Given the description of an element on the screen output the (x, y) to click on. 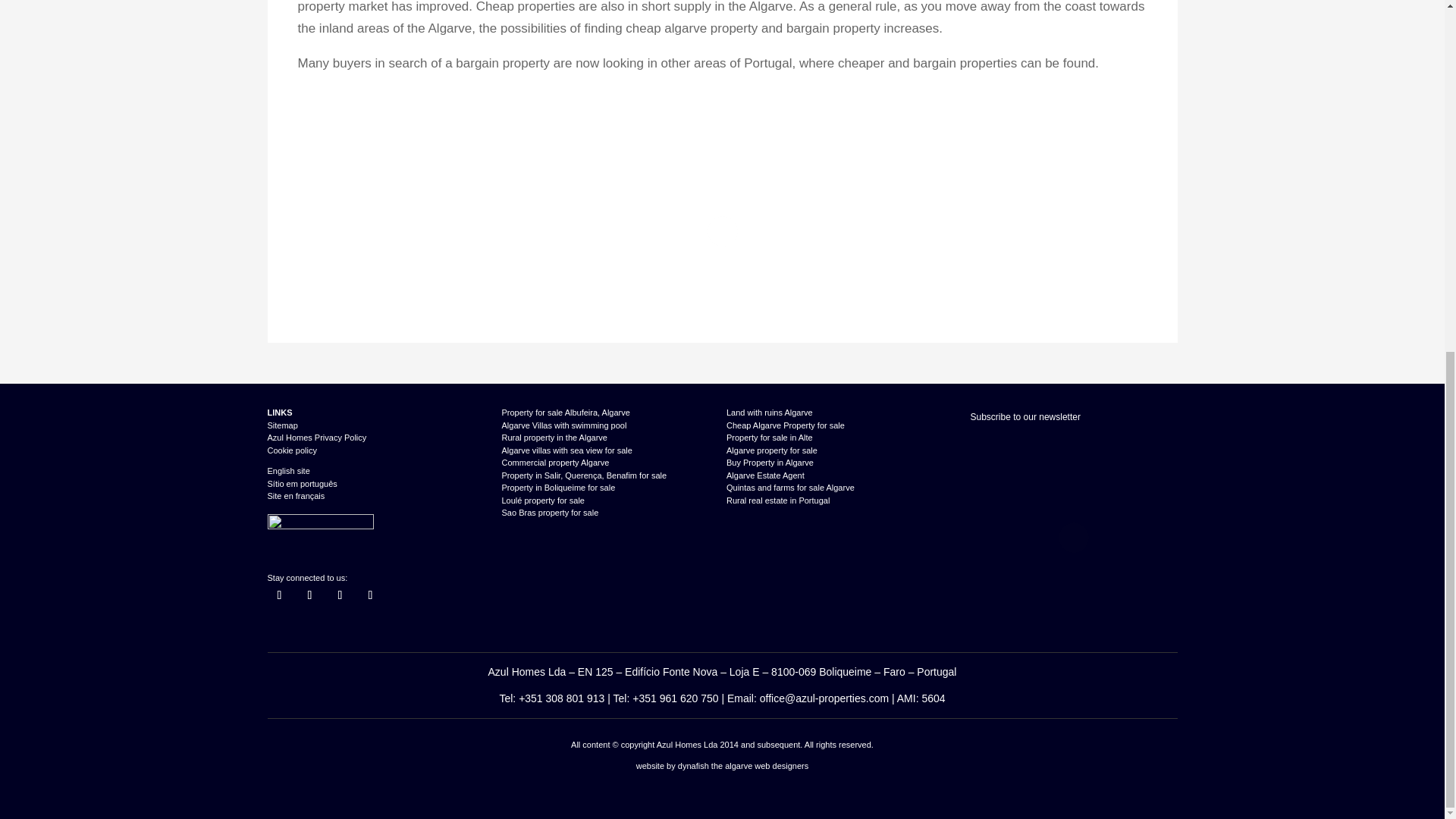
Follow on Youtube (369, 595)
Sitemap (281, 424)
Property for sale Albufeira, Algarve (566, 411)
Follow on LinkedIn (339, 595)
Follow on X (309, 595)
Cookie policy (290, 450)
English site (287, 470)
Azul Homes Privacy Policy (316, 437)
Follow on Facebook (278, 595)
